Given the description of an element on the screen output the (x, y) to click on. 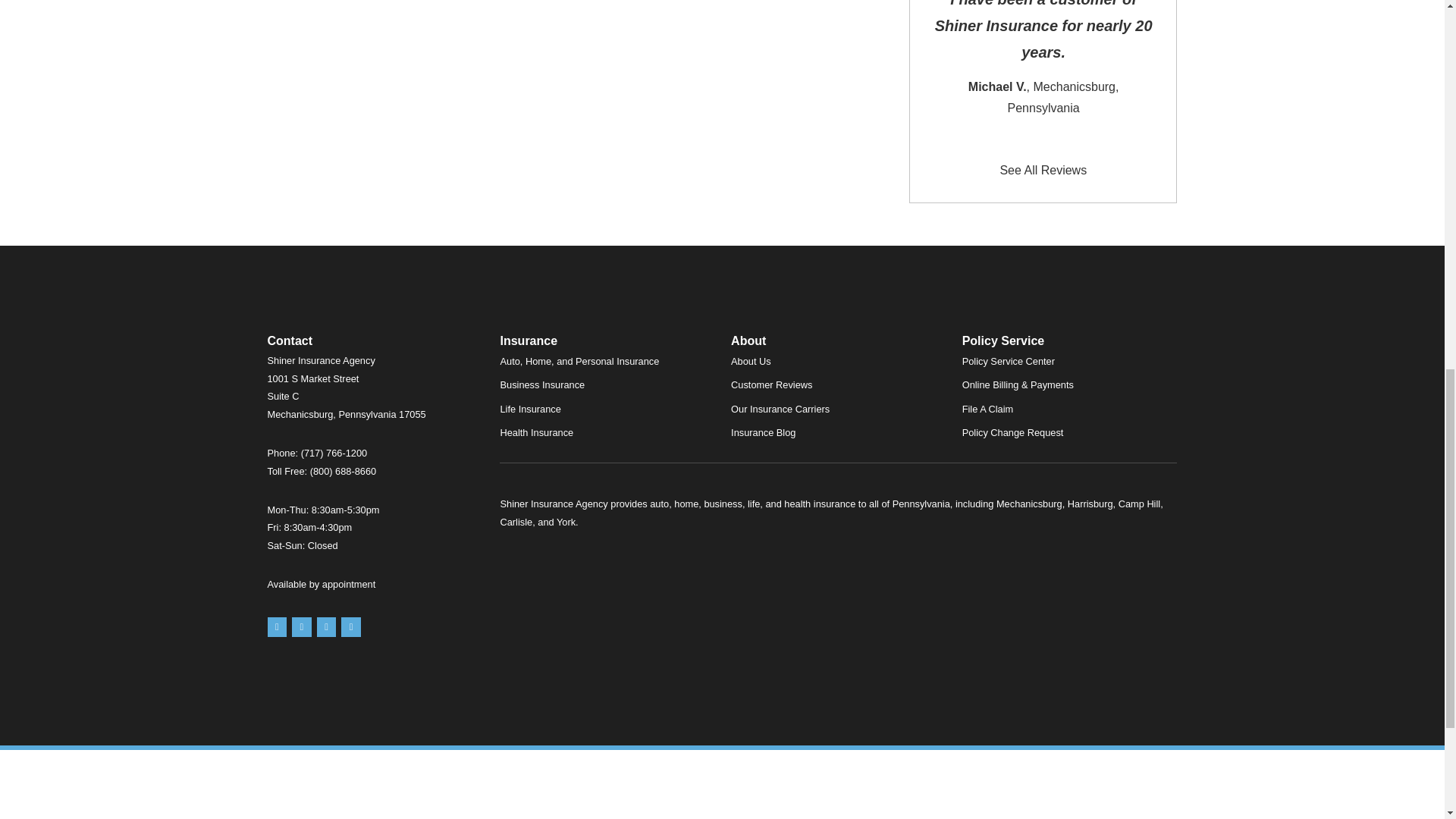
Facebook (326, 627)
Yelp (301, 627)
Google Maps (276, 627)
LinkedIn (350, 627)
